Given the description of an element on the screen output the (x, y) to click on. 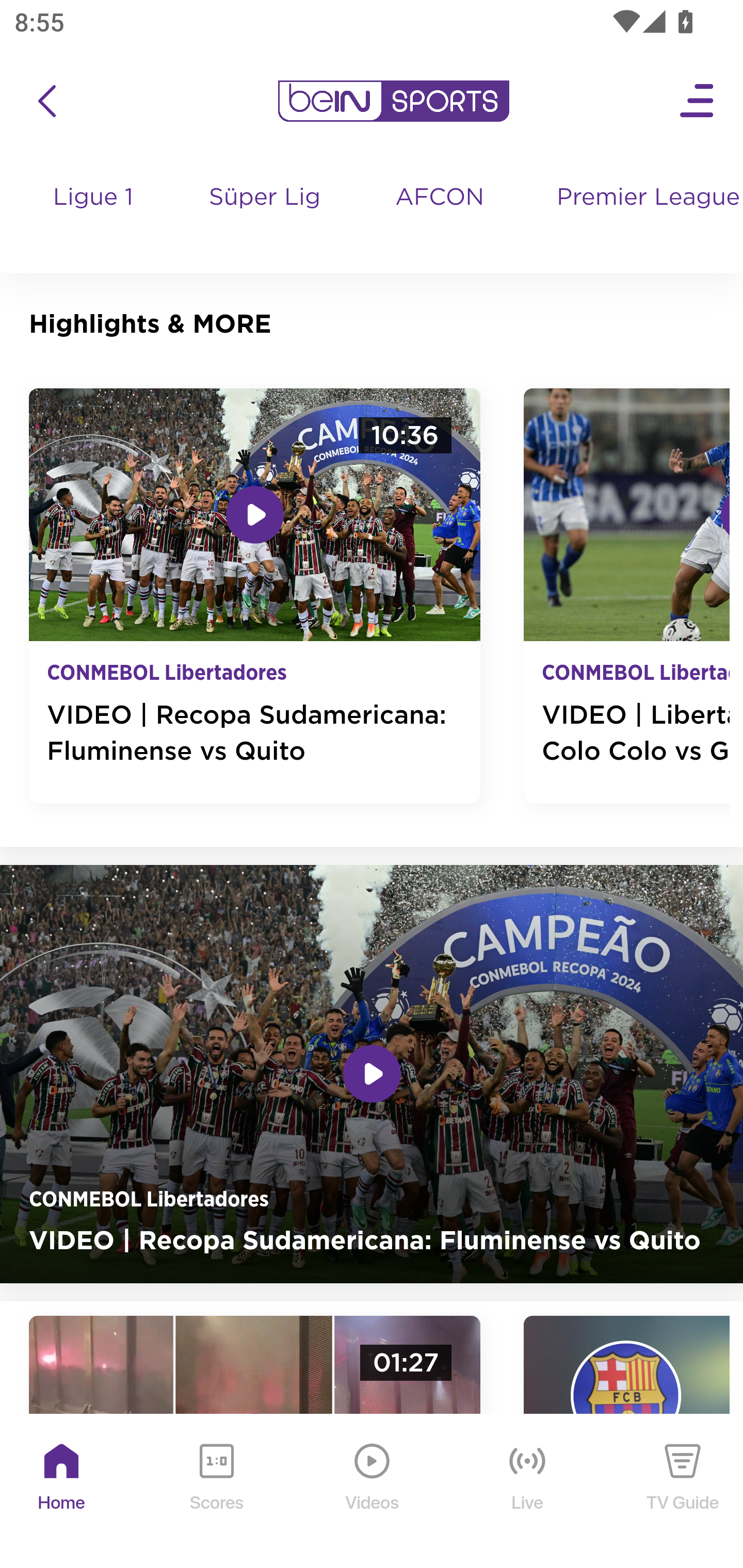
en-us?platform=mobile_android bein logo (392, 101)
icon back (46, 101)
Open Menu Icon (697, 101)
Ligue 1 (94, 216)
Süper Lig (265, 216)
AFCON (439, 198)
Premier League (642, 198)
Home Home Icon Home (61, 1491)
Scores Scores Icon Scores (216, 1491)
Videos Videos Icon Videos (372, 1491)
TV Guide TV Guide Icon TV Guide (682, 1491)
